Given the description of an element on the screen output the (x, y) to click on. 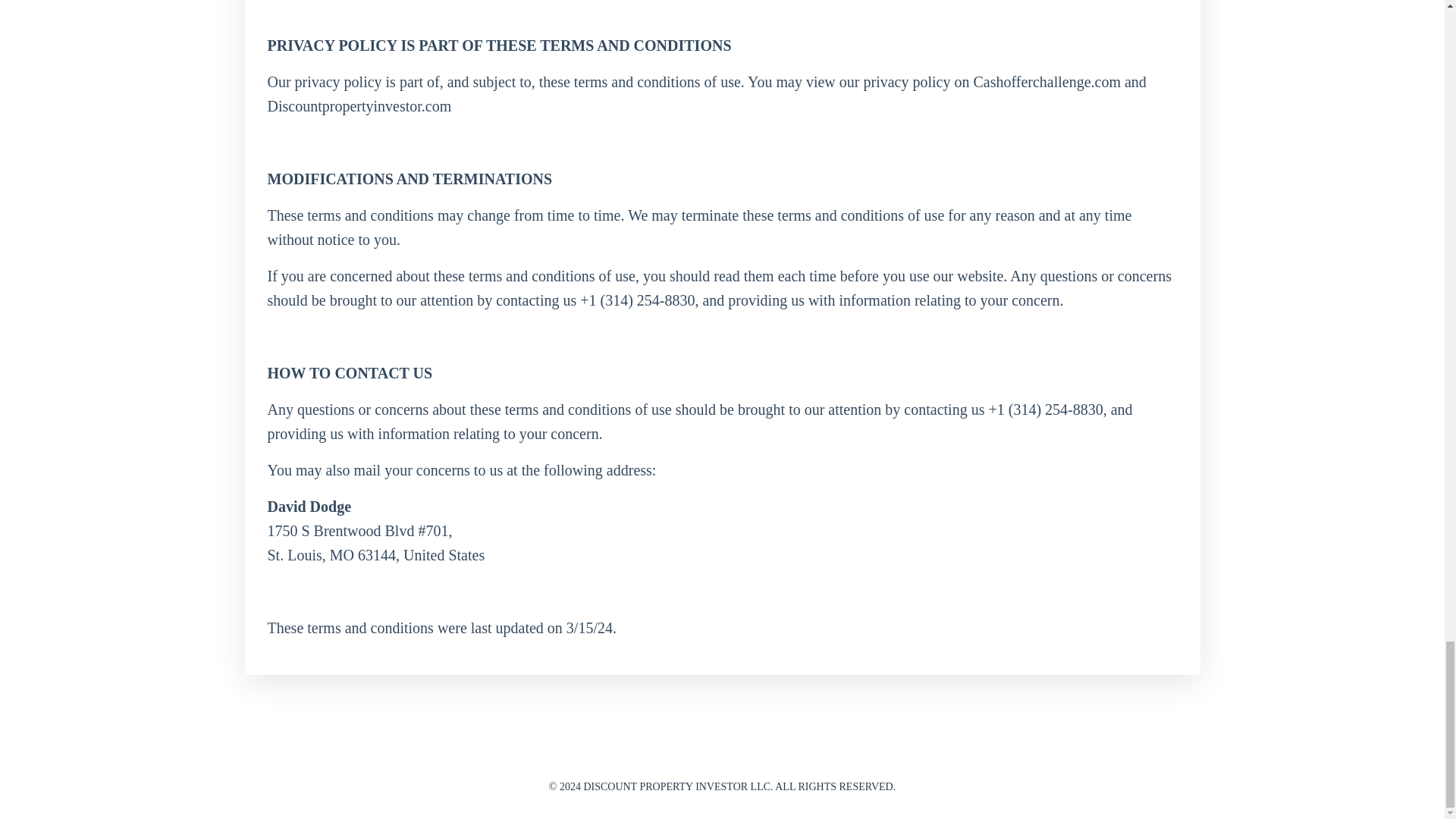
Home (861, 750)
Terms (758, 750)
Privacy Policy (696, 750)
Fulfillment Policy (608, 750)
About Us (809, 750)
